Given the description of an element on the screen output the (x, y) to click on. 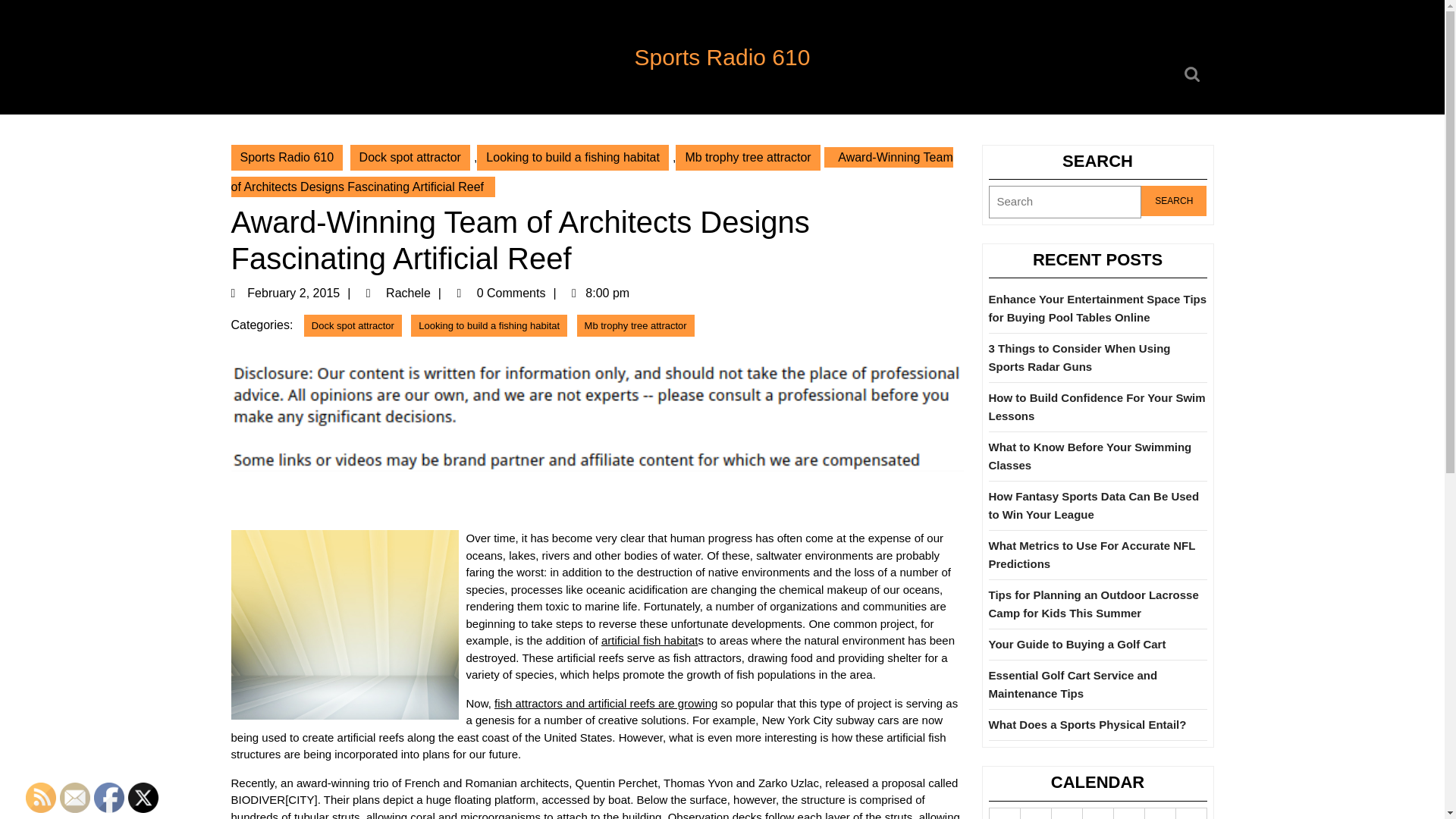
Search (1174, 200)
Sports Radio 610 (722, 57)
Tuesday (1035, 813)
Root wad attractor (649, 640)
Dock spot attractor (410, 157)
Search (1174, 200)
Saturday (1160, 813)
Facebook (108, 797)
Looking to build a fishing habitat (488, 325)
Search (1174, 200)
Sports Radio 610 (286, 157)
Search (1193, 73)
Dock spot attractor (352, 325)
Thursday (1098, 813)
